Given the description of an element on the screen output the (x, y) to click on. 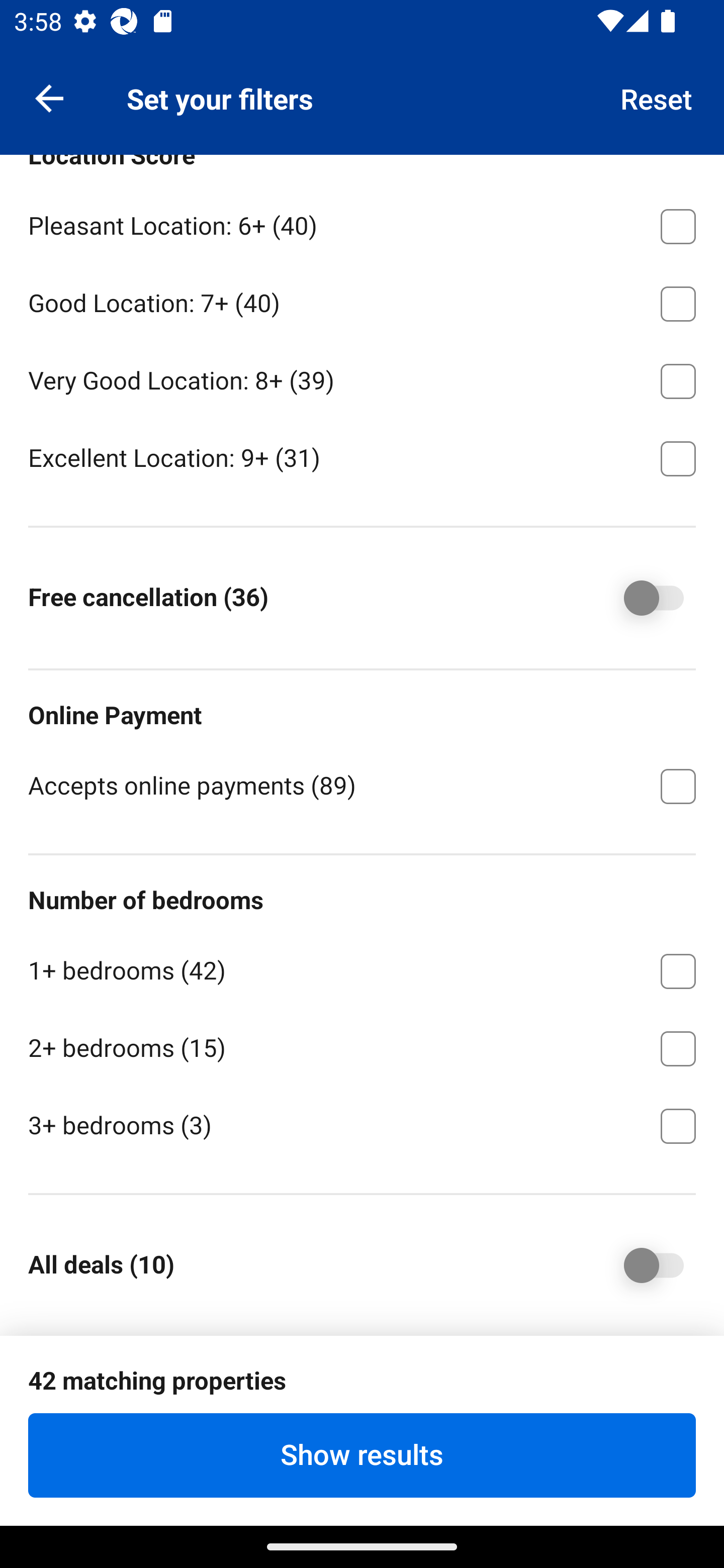
Navigate up (49, 97)
Reset (656, 97)
Pleasant Location: 6+ ⁦(40) (361, 223)
Good Location: 7+ ⁦(40) (361, 299)
Very Good Location: 8+ ⁦(39) (361, 377)
Excellent Location: 9+ ⁦(31) (361, 457)
Free cancellation ⁦(36) (639, 597)
Accepts online payments ⁦(89) (361, 784)
1+ bedrooms ⁦(42) (361, 967)
2+ bedrooms ⁦(15) (361, 1044)
3+ bedrooms ⁦(3) (361, 1124)
All deals ⁦(10) (639, 1265)
Show results (361, 1454)
